Given the description of an element on the screen output the (x, y) to click on. 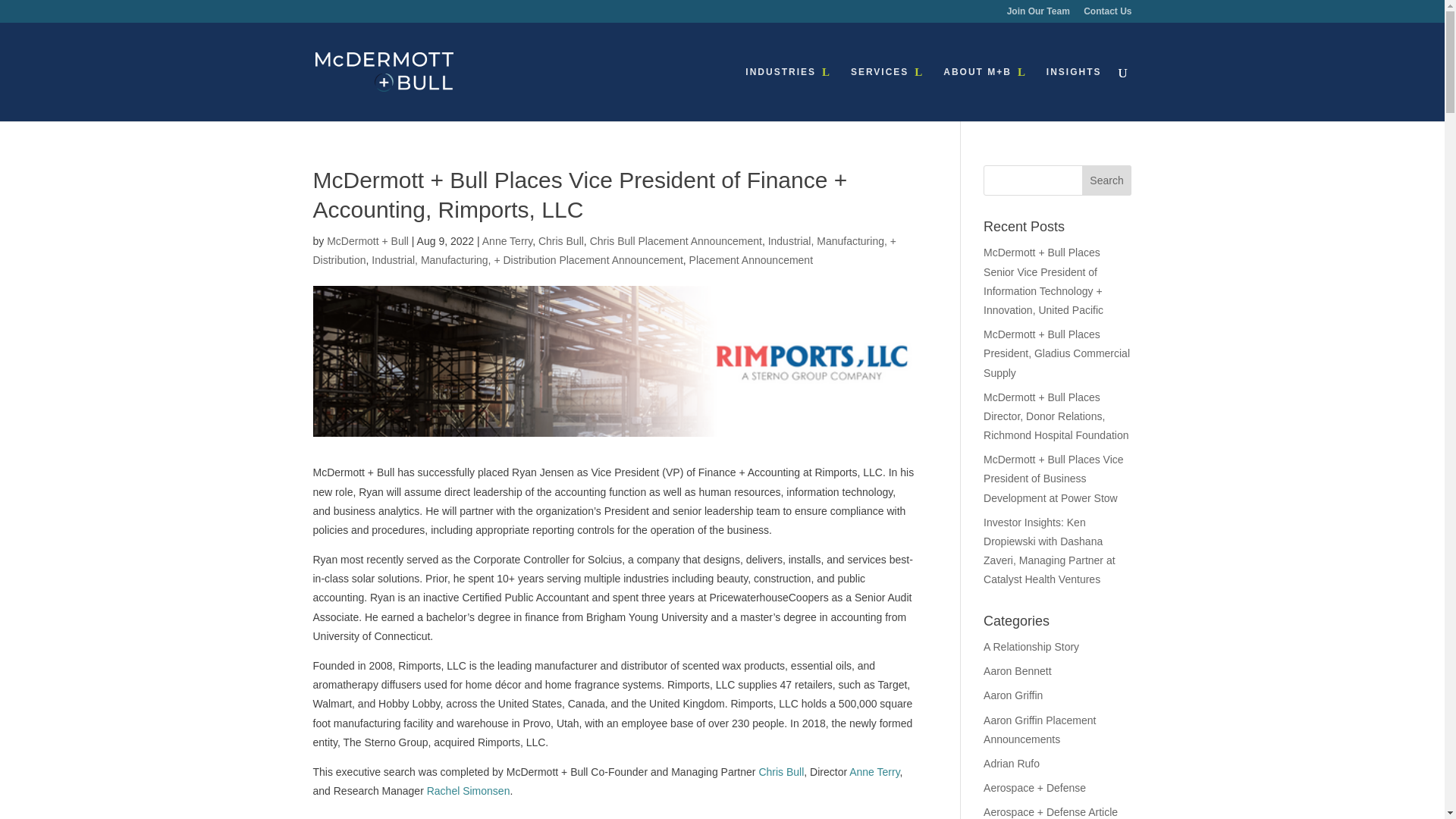
INSIGHTS (1074, 93)
INDUSTRIES (788, 93)
Contact Us (1107, 14)
Search (1106, 180)
SERVICES (886, 93)
Join Our Team (1038, 14)
